Given the description of an element on the screen output the (x, y) to click on. 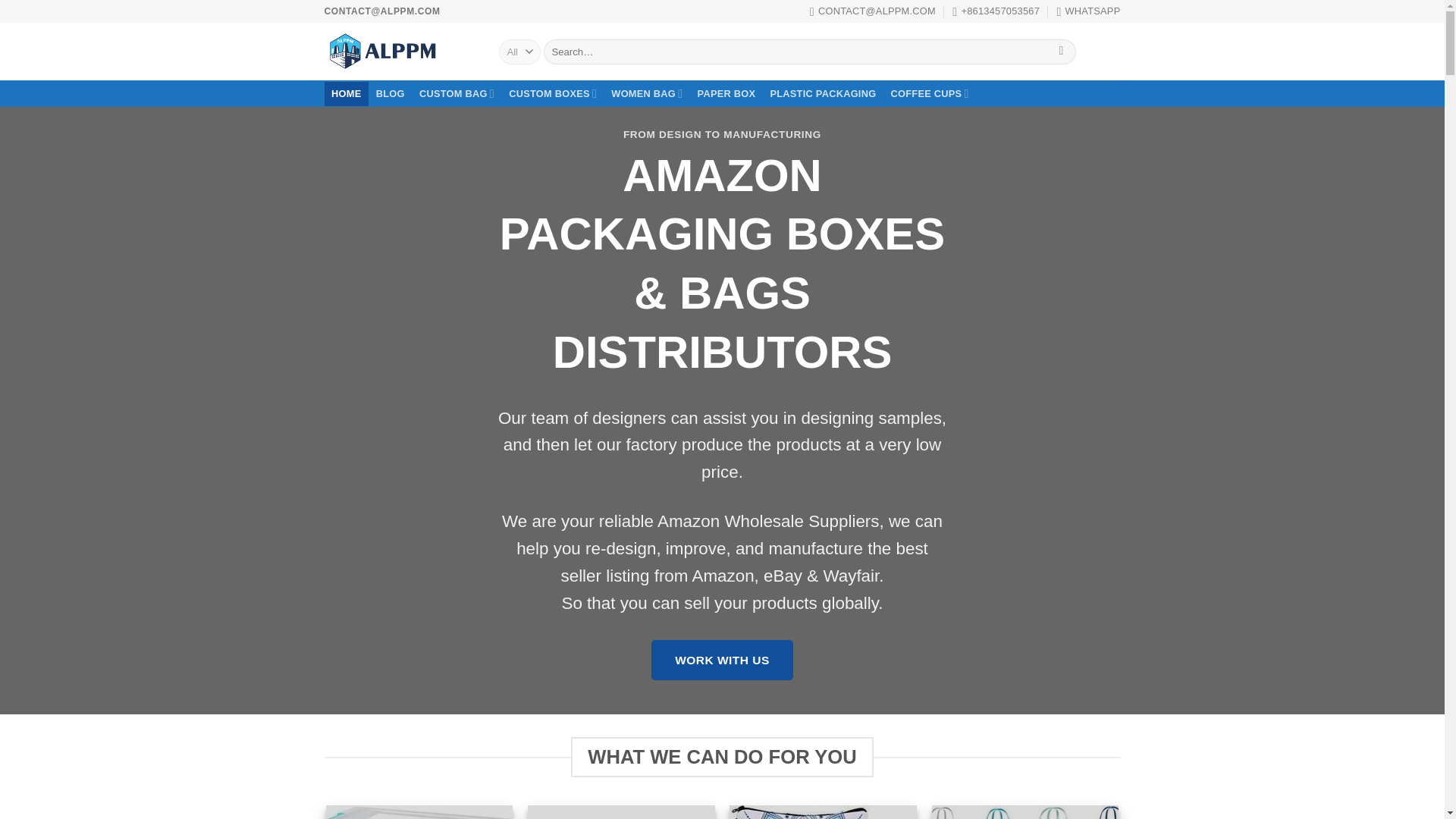
PAPER BOX (726, 93)
Search (1061, 52)
CUSTOM BAG (456, 93)
HOME (346, 93)
WHATSAPP (1088, 11)
CUSTOM BOXES (553, 93)
WOMEN BAG (647, 93)
BLOG (390, 93)
